Given the description of an element on the screen output the (x, y) to click on. 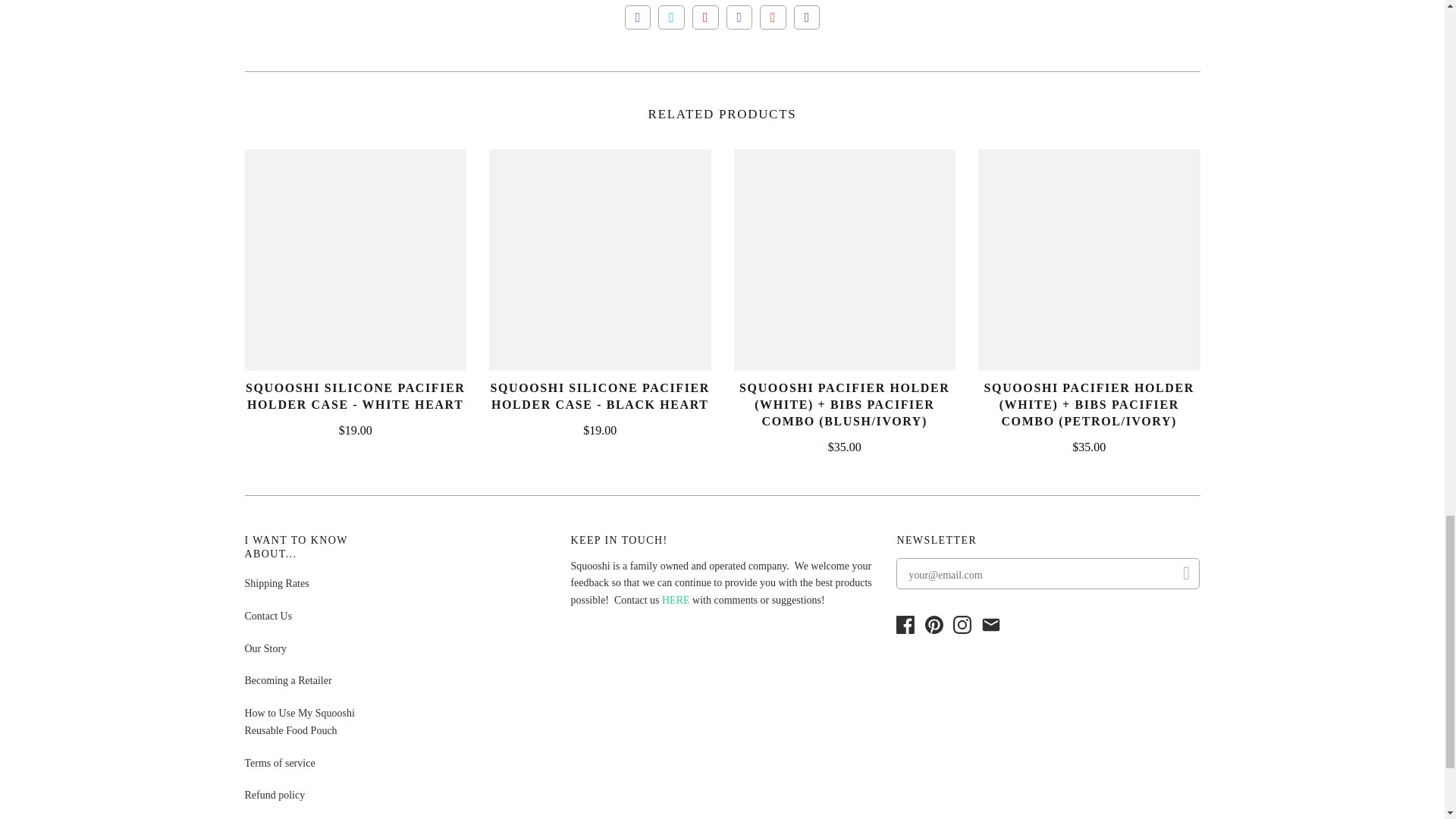
How to Use My Squooshi Reusable Food Pouch (298, 721)
Becoming a Retailer (287, 680)
Email (807, 16)
Like (637, 16)
Terms of service (279, 763)
SQUOOSHI SILICONE PACIFIER HOLDER CASE - BLACK HEART (600, 396)
SQUOOSHI SILICONE PACIFIER HOLDER CASE - WHITE HEART (355, 396)
Tweet (671, 16)
HERE (676, 600)
Our Story (265, 648)
Facebook (908, 630)
Customer Care (676, 600)
Mail (990, 624)
Pin it (706, 16)
Fancy (739, 16)
